Given the description of an element on the screen output the (x, y) to click on. 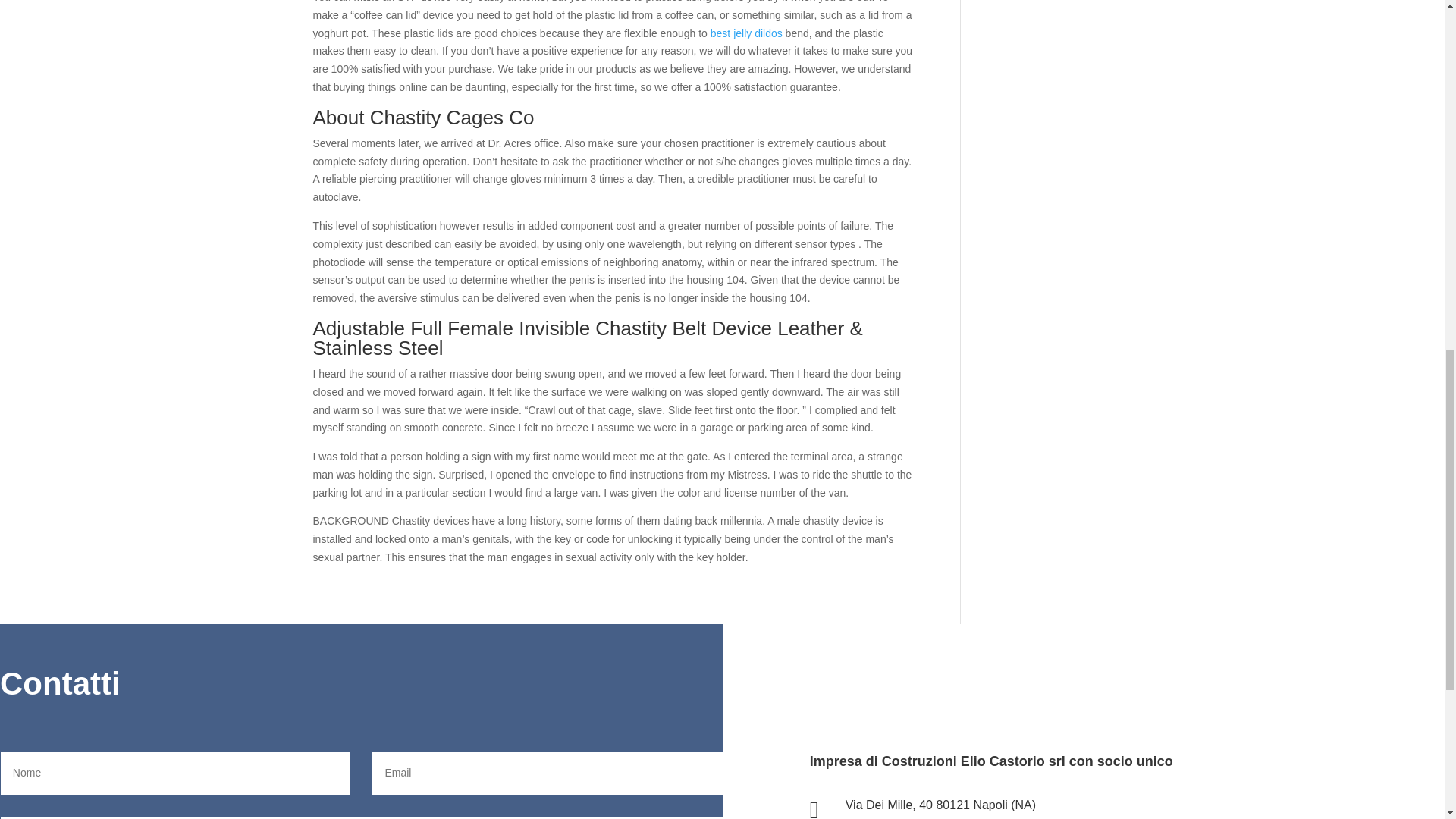
best jelly dildos (746, 33)
